Given the description of an element on the screen output the (x, y) to click on. 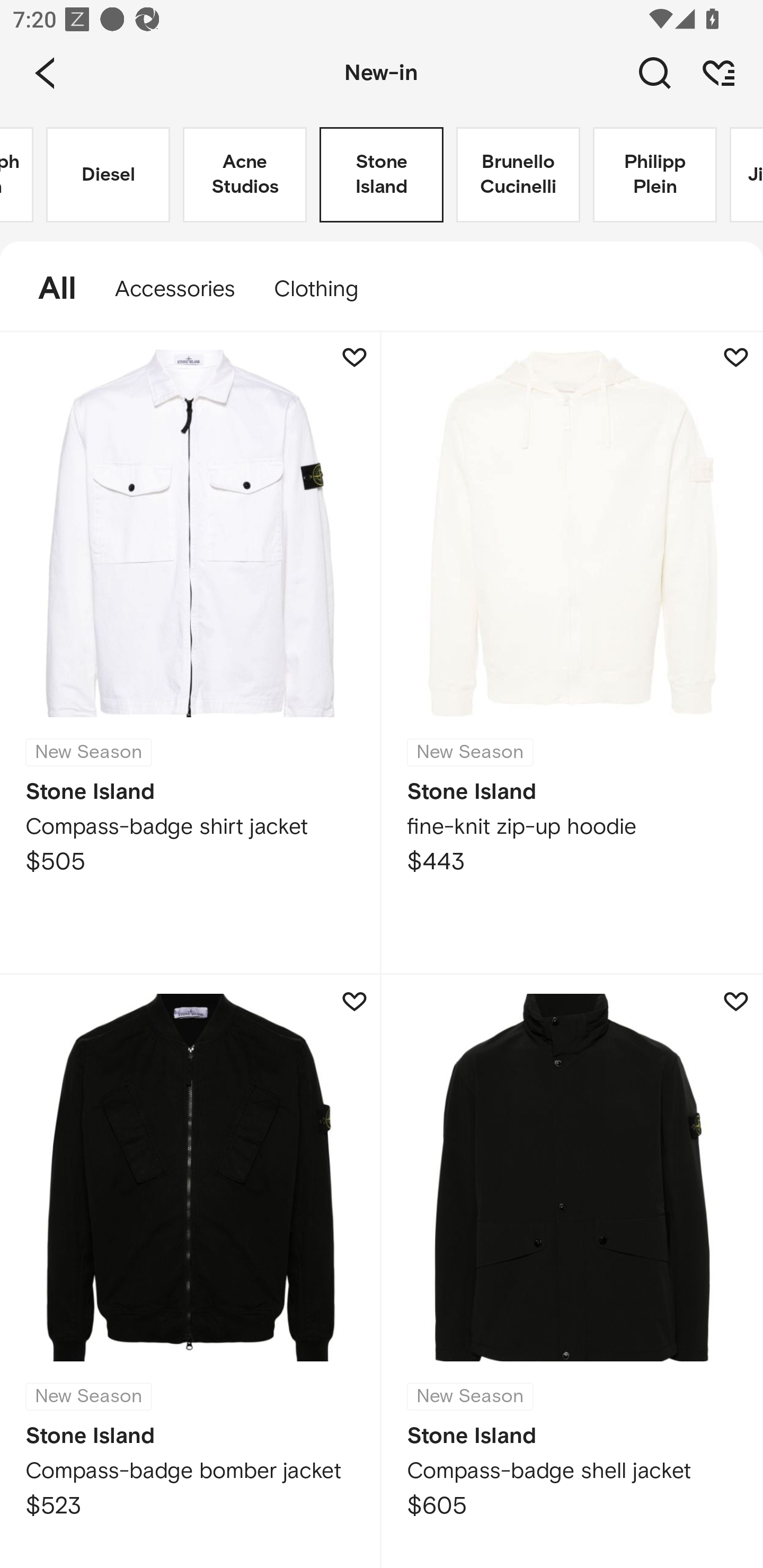
Diesel (107, 174)
Acne Studios (244, 174)
Stone Island (381, 174)
Brunello Cucinelli (517, 174)
Philipp Plein (654, 174)
All (47, 288)
Accessories (174, 288)
Clothing (324, 288)
